Given the description of an element on the screen output the (x, y) to click on. 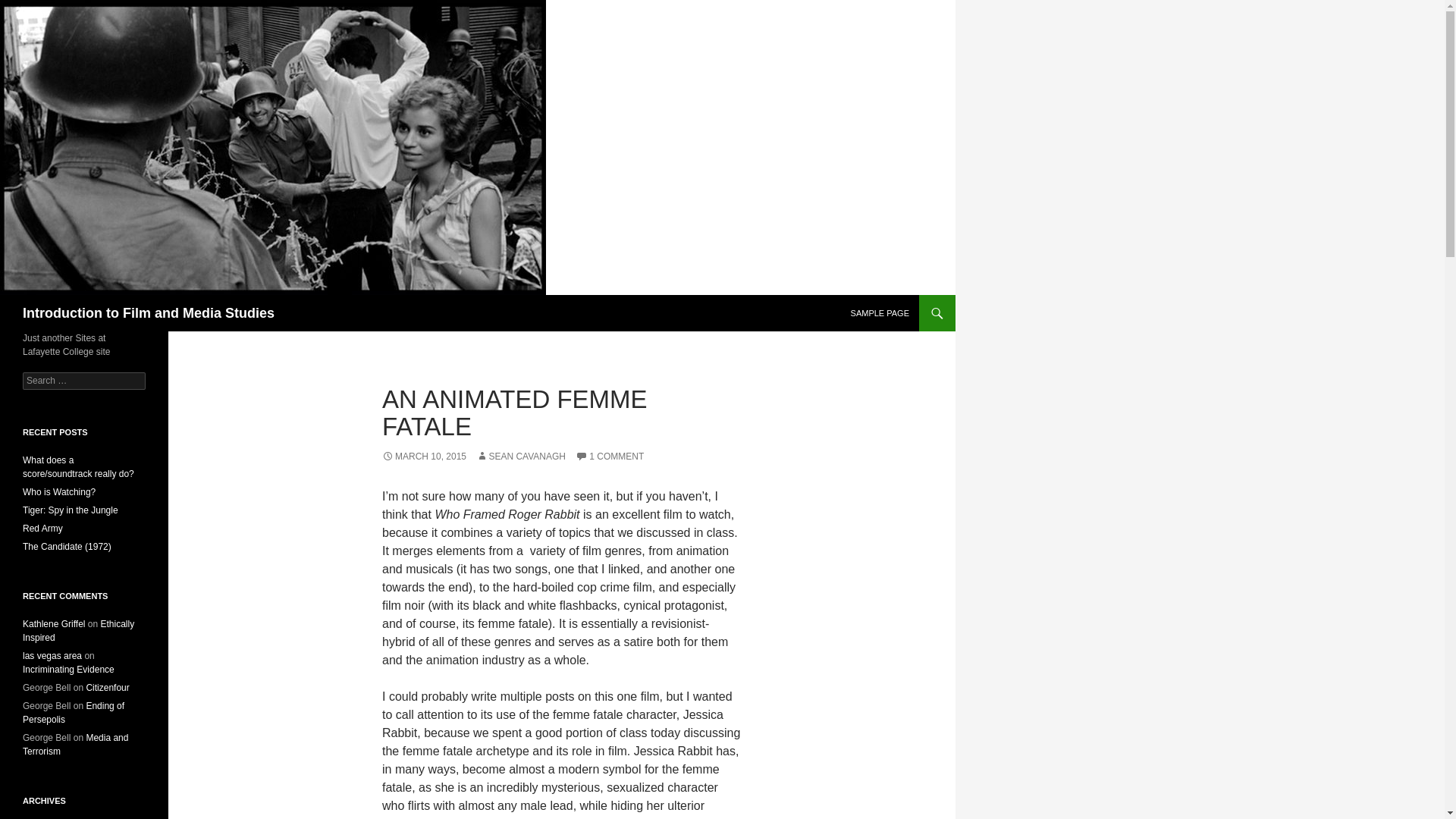
Incriminating Evidence (69, 669)
1 COMMENT (609, 456)
Search (30, 8)
Tiger: Spy in the Jungle (70, 510)
Who is Watching? (59, 491)
MARCH 10, 2015 (423, 456)
Red Army (42, 528)
Ethically Inspired (78, 630)
Citizenfour (107, 687)
Introduction to Film and Media Studies (149, 312)
SEAN CAVANAGH (521, 456)
Media and Terrorism (75, 744)
SAMPLE PAGE (879, 312)
